Given the description of an element on the screen output the (x, y) to click on. 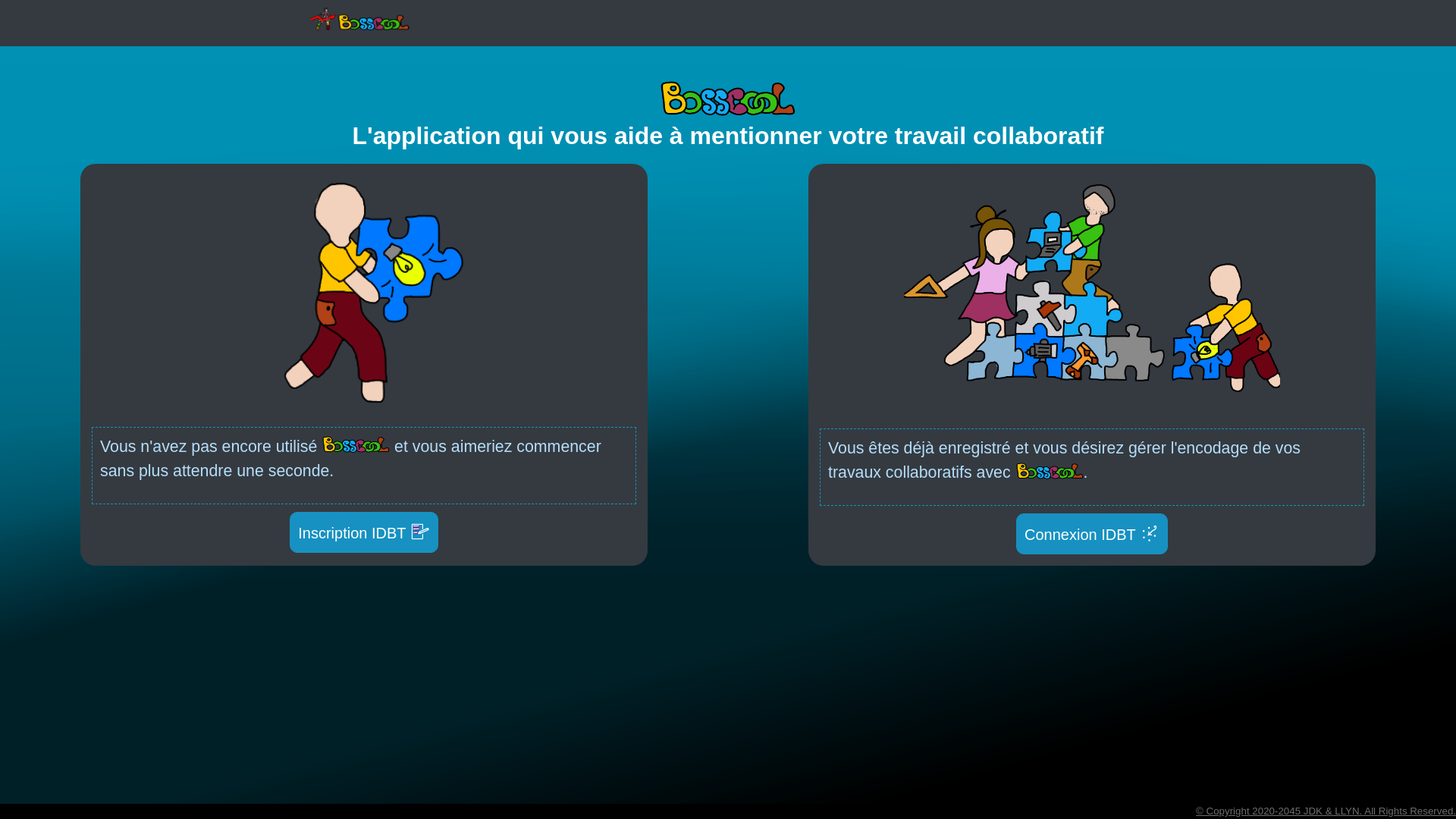
Connexion IDBT Element type: text (1091, 533)
Inscription IDBT Element type: text (363, 531)
